Given the description of an element on the screen output the (x, y) to click on. 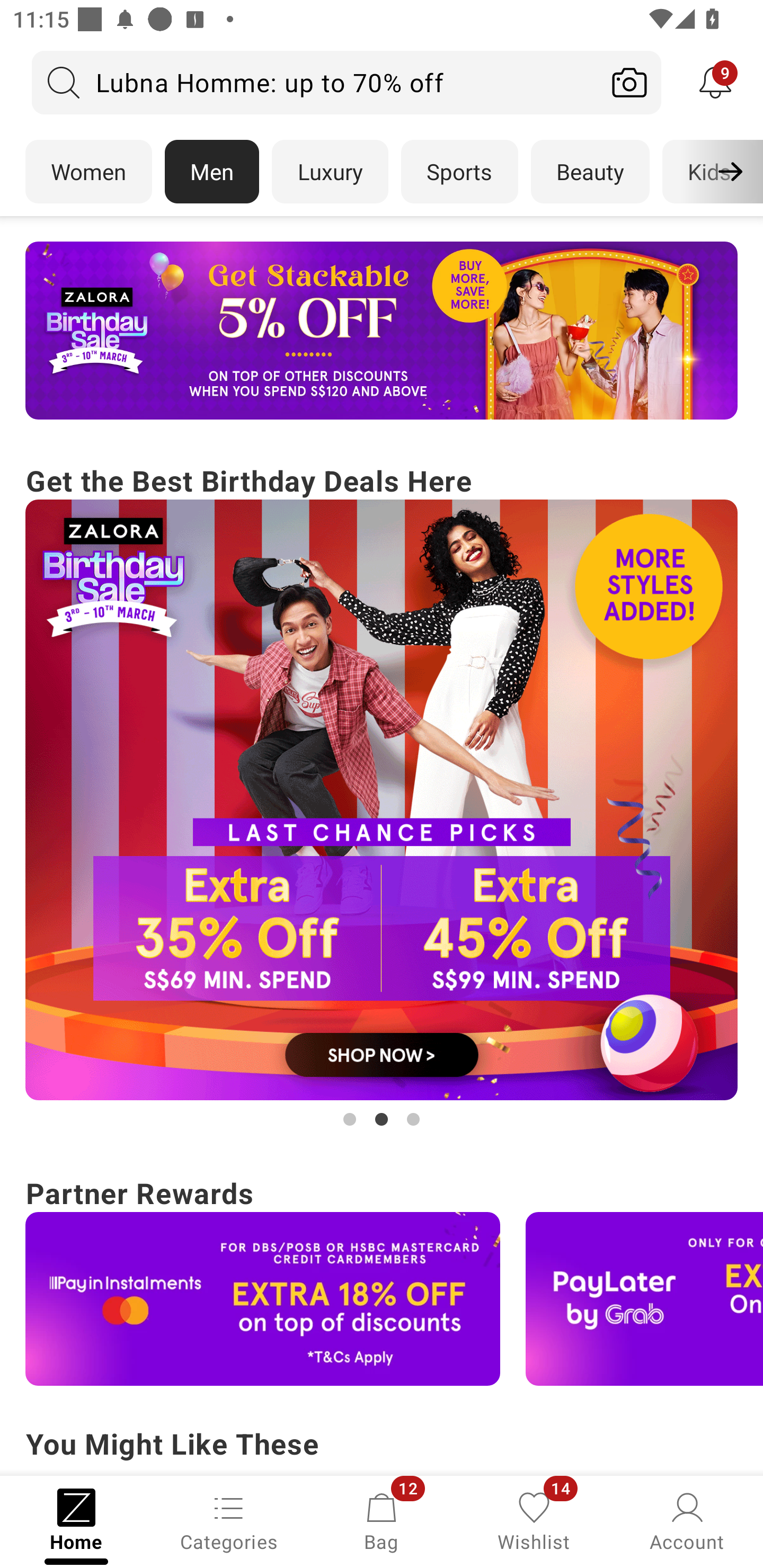
Lubna Homme: up to 70% off (314, 82)
Women (88, 171)
Men (211, 171)
Luxury (329, 171)
Sports (459, 171)
Beauty (590, 171)
Campaign banner (381, 330)
Get the Best Birthday Deals Here Campaign banner (381, 794)
Campaign banner (381, 800)
Partner Rewards Campaign banner Campaign banner (381, 1277)
Campaign banner (262, 1299)
Campaign banner (644, 1299)
Campaign banner (353, 1475)
Campaign banner (580, 1475)
Campaign banner (735, 1475)
Categories (228, 1519)
Bag, 12 new notifications Bag (381, 1519)
Wishlist, 14 new notifications Wishlist (533, 1519)
Account (686, 1519)
